Given the description of an element on the screen output the (x, y) to click on. 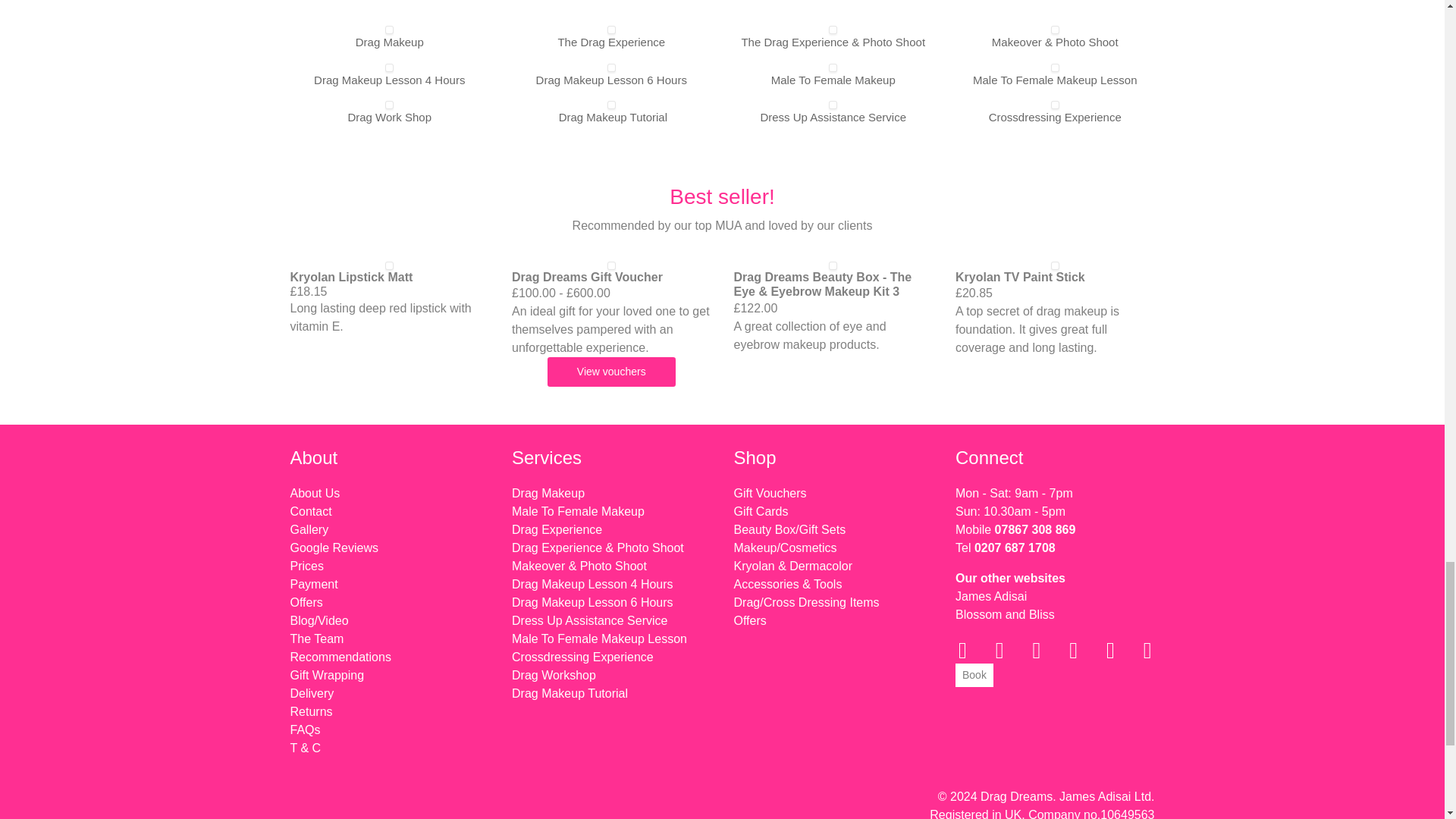
Drag Makeup Lesson 6 Hours (611, 79)
The Drag Experience (611, 42)
Drag Makeup Lesson 4 Hours (389, 79)
Drag Makeup Tutorial (612, 116)
Drag Work Shop (388, 116)
Drag Makeup (389, 42)
